Given the description of an element on the screen output the (x, y) to click on. 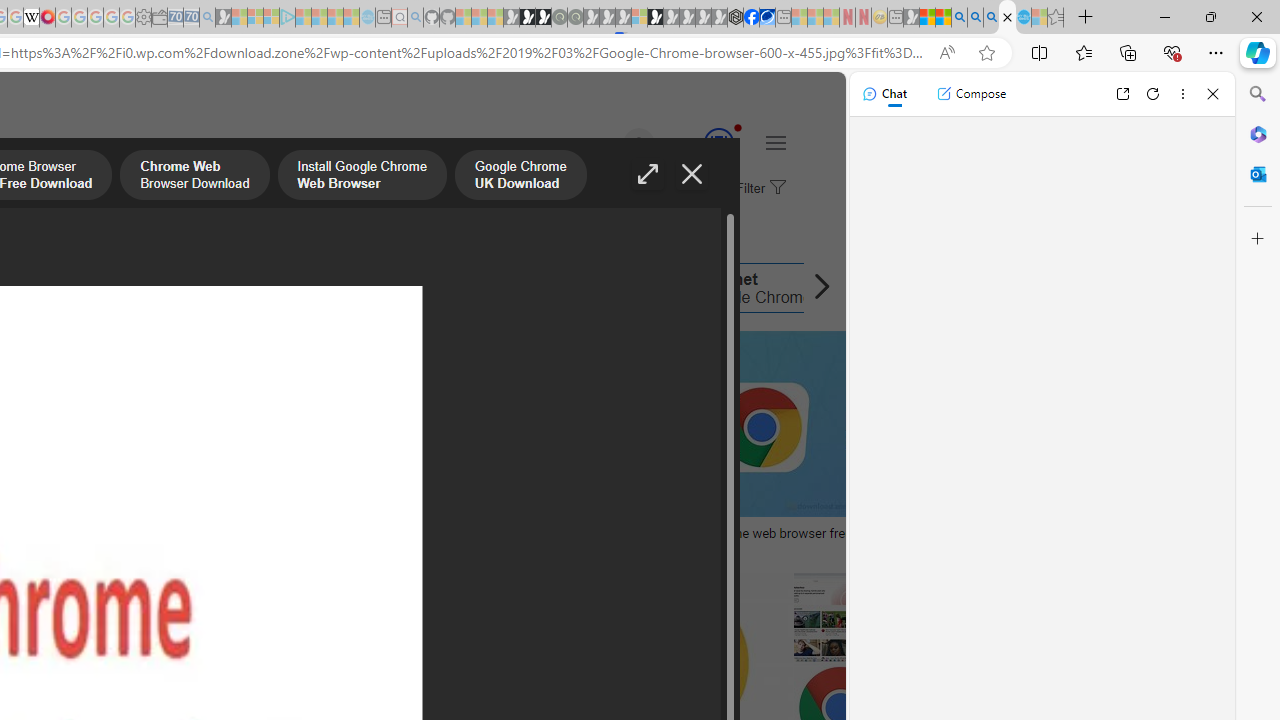
Full screen (648, 173)
Eugene (611, 143)
Chrome Web Browser Download (195, 177)
Nordace - Cooler Bags (735, 17)
